Given the description of an element on the screen output the (x, y) to click on. 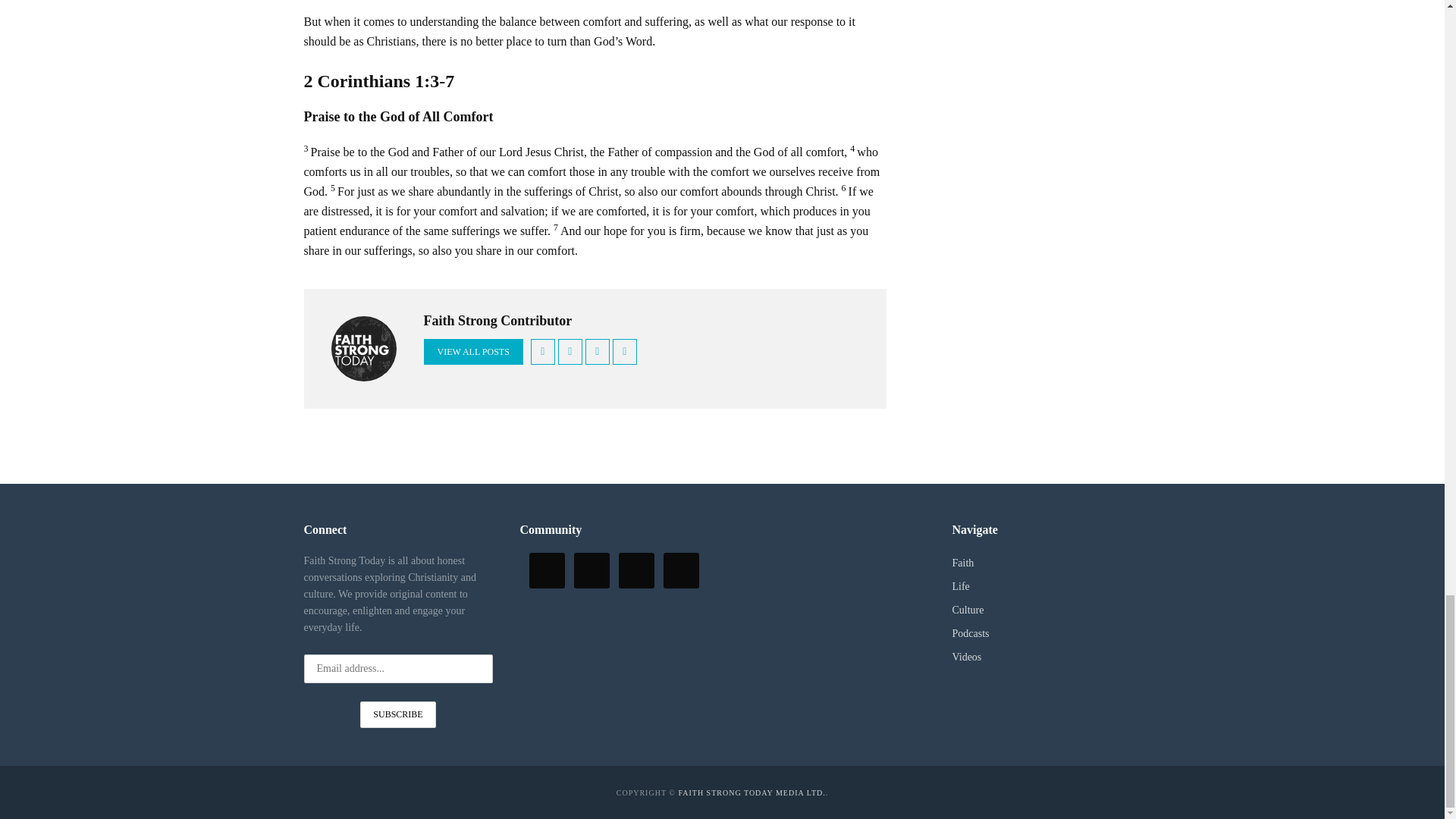
Subscribe (397, 714)
